Given the description of an element on the screen output the (x, y) to click on. 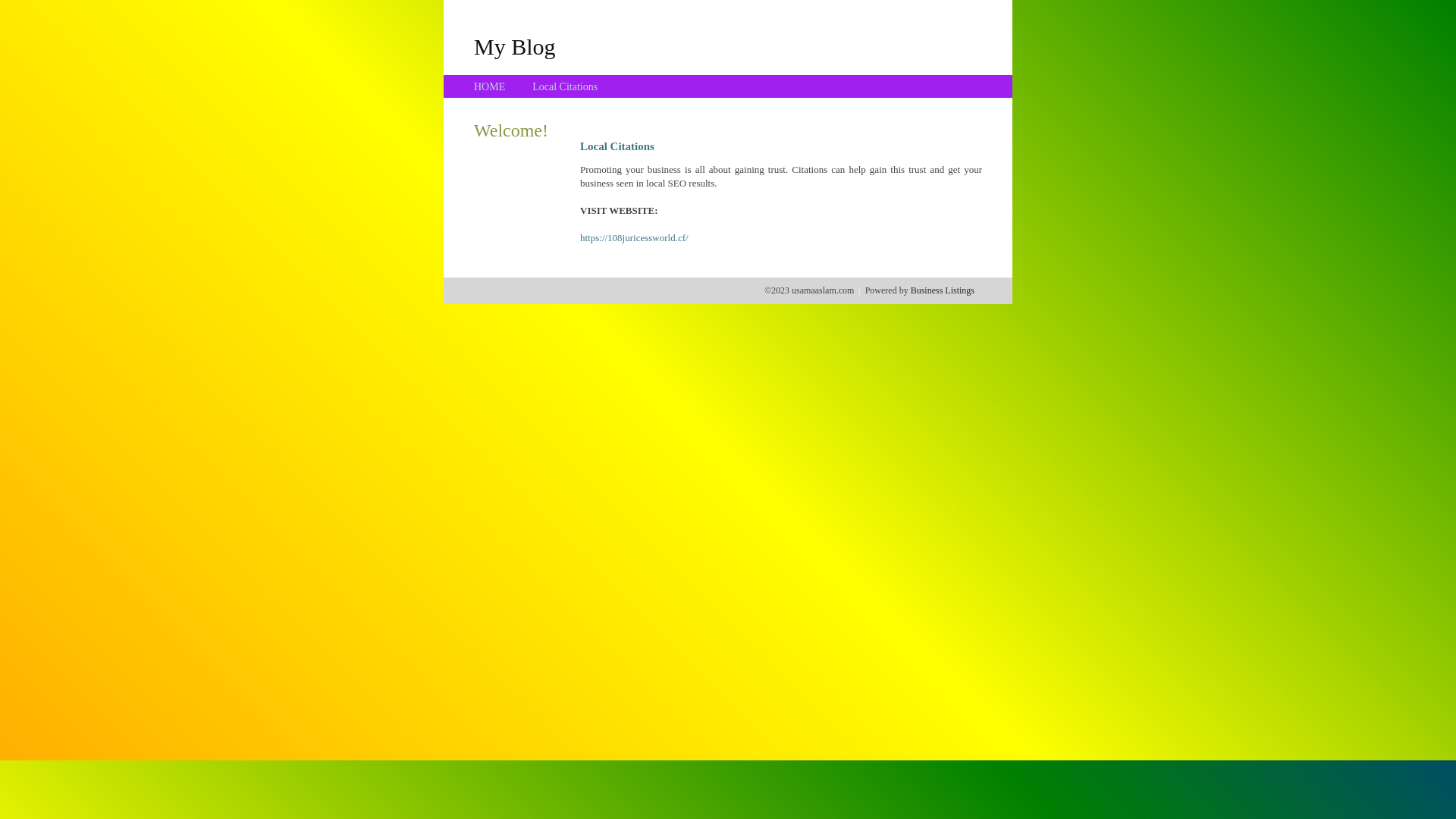
My Blog Element type: text (514, 46)
HOME Element type: text (489, 86)
Business Listings Element type: text (942, 290)
Local Citations Element type: text (564, 86)
https://108juricessworld.cf/ Element type: text (634, 237)
